Given the description of an element on the screen output the (x, y) to click on. 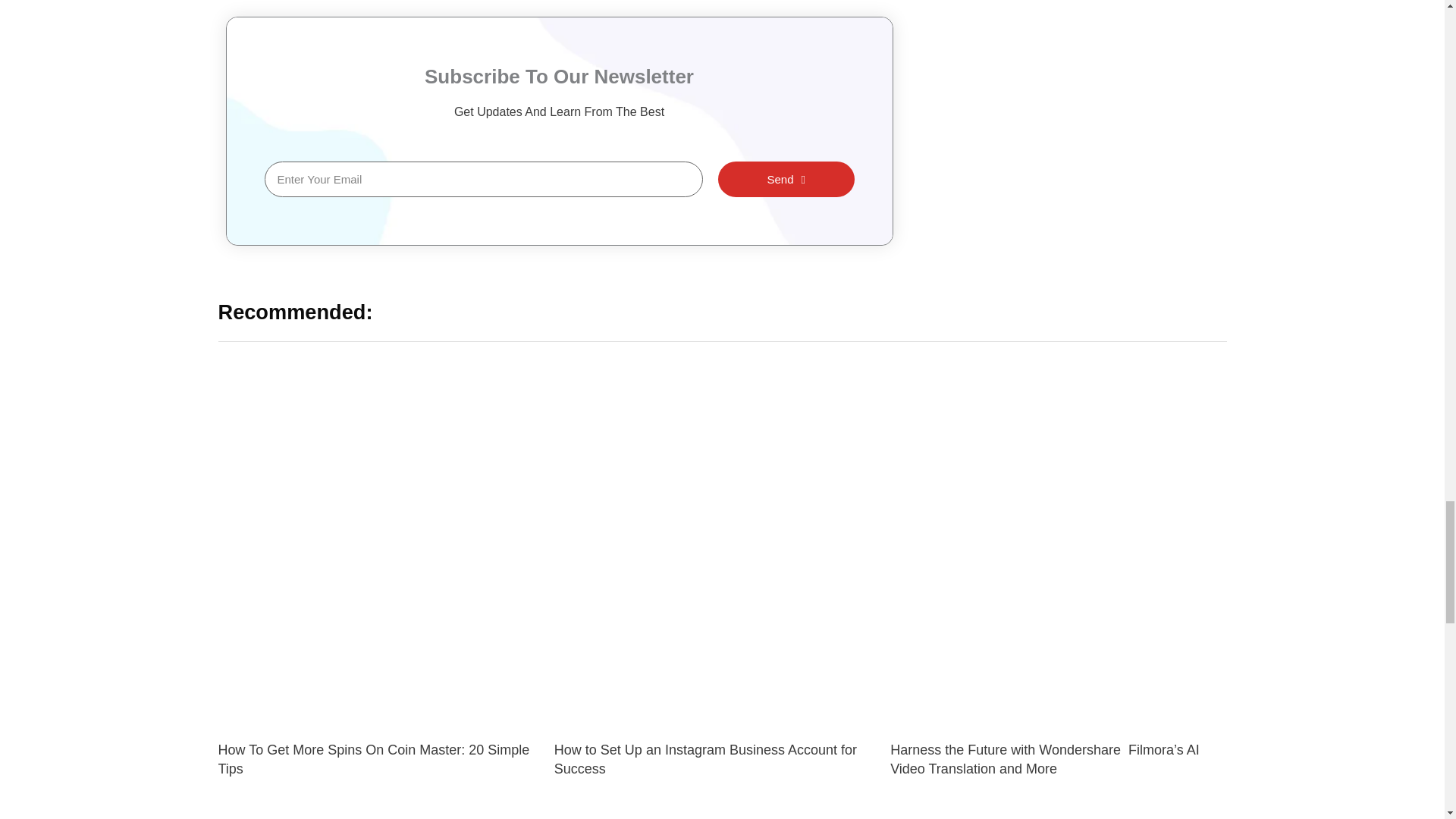
Send (785, 179)
